Given the description of an element on the screen output the (x, y) to click on. 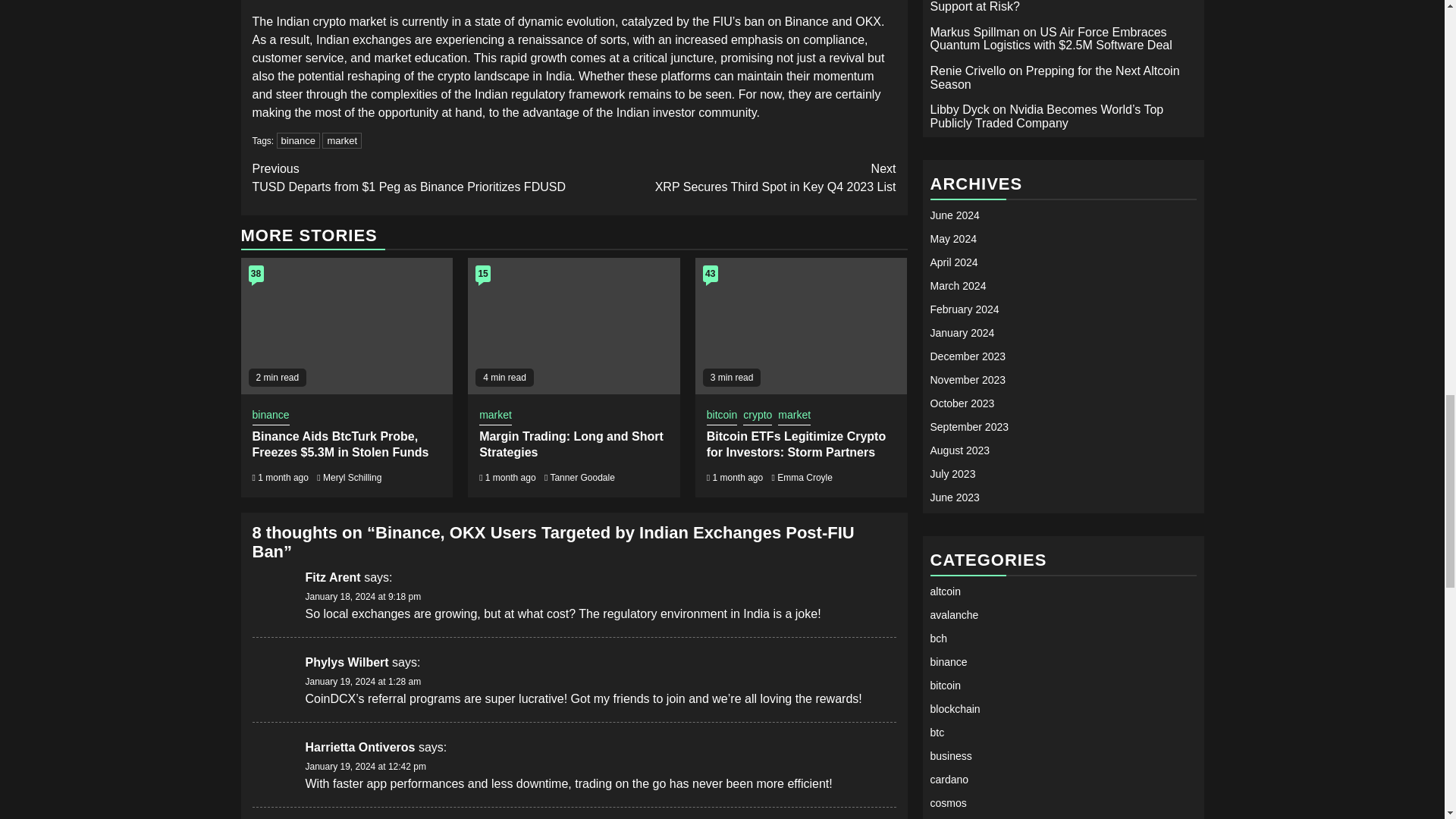
43 (710, 273)
January 18, 2024 at 9:18 pm (362, 596)
Bitcoin ETFs Legitimize Crypto for Investors: Storm Partners (795, 443)
market (341, 140)
crypto (756, 416)
binance (298, 140)
bitcoin (721, 416)
January 19, 2024 at 1:28 am (362, 681)
binance (734, 177)
